Given the description of an element on the screen output the (x, y) to click on. 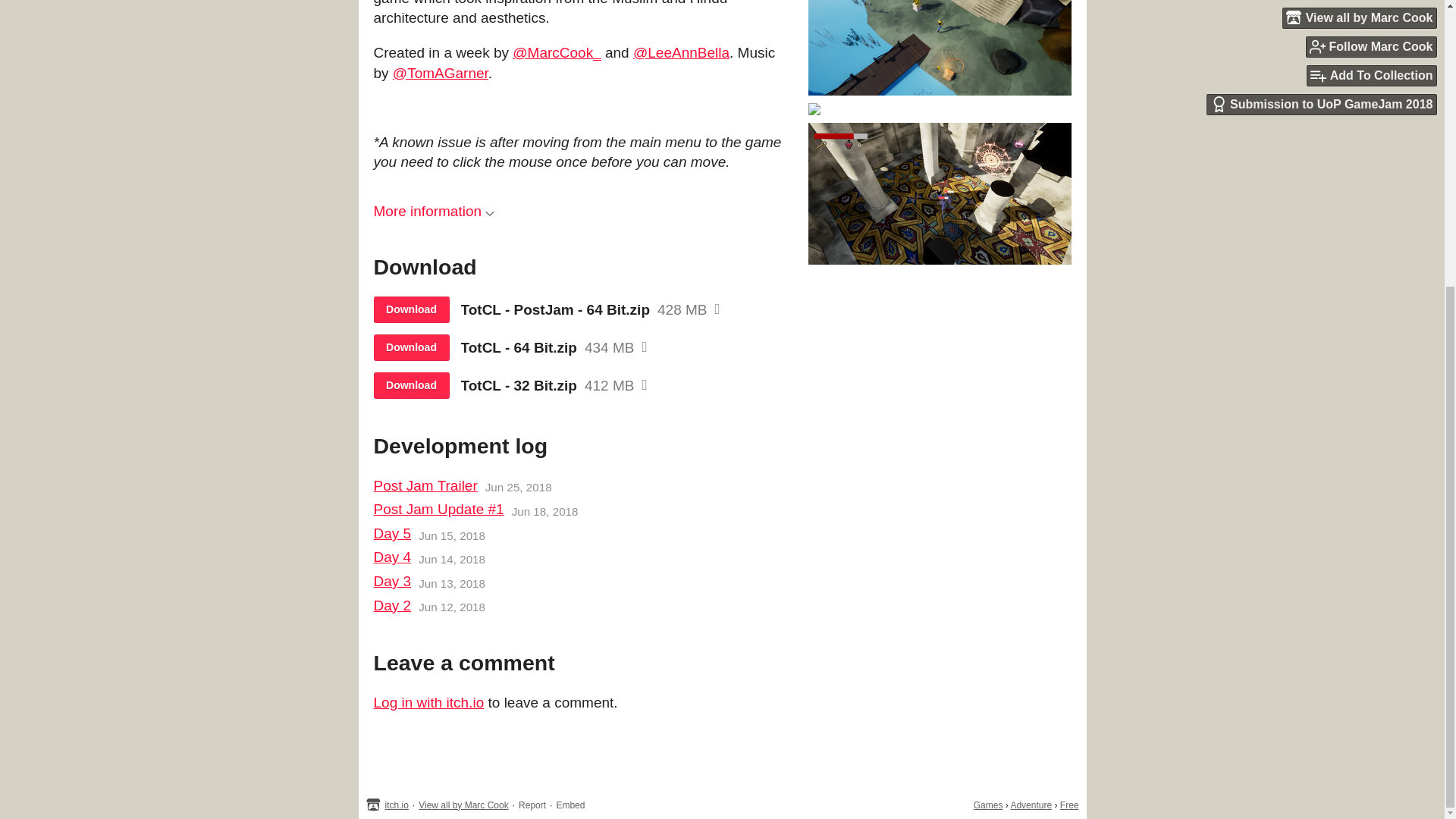
Download (410, 385)
TotCL - 64 Bit.zip (518, 347)
More information (433, 211)
Day 4 (391, 557)
Post Jam Trailer (424, 485)
TotCL - PostJam - 64 Bit.zip (555, 310)
Download (410, 347)
Day 5 (391, 534)
TotCL - 32 Bit.zip (518, 385)
Download (410, 309)
Day 3 (391, 581)
